Given the description of an element on the screen output the (x, y) to click on. 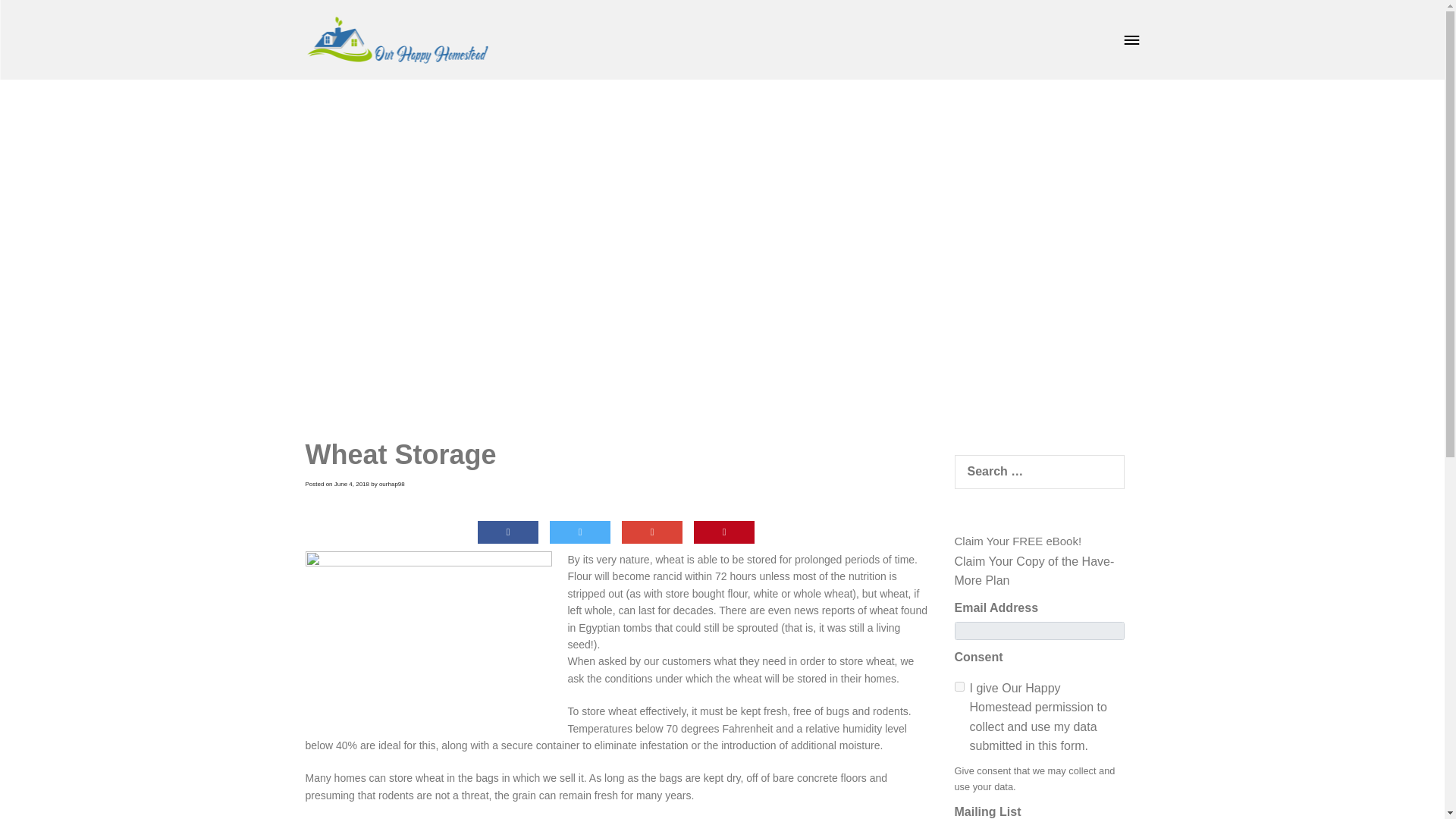
1 (958, 686)
toggle menu (1131, 39)
ourhap98 (391, 483)
June 4, 2018 (351, 483)
Our Happy Homestead (395, 39)
Search for: (1038, 471)
